Given the description of an element on the screen output the (x, y) to click on. 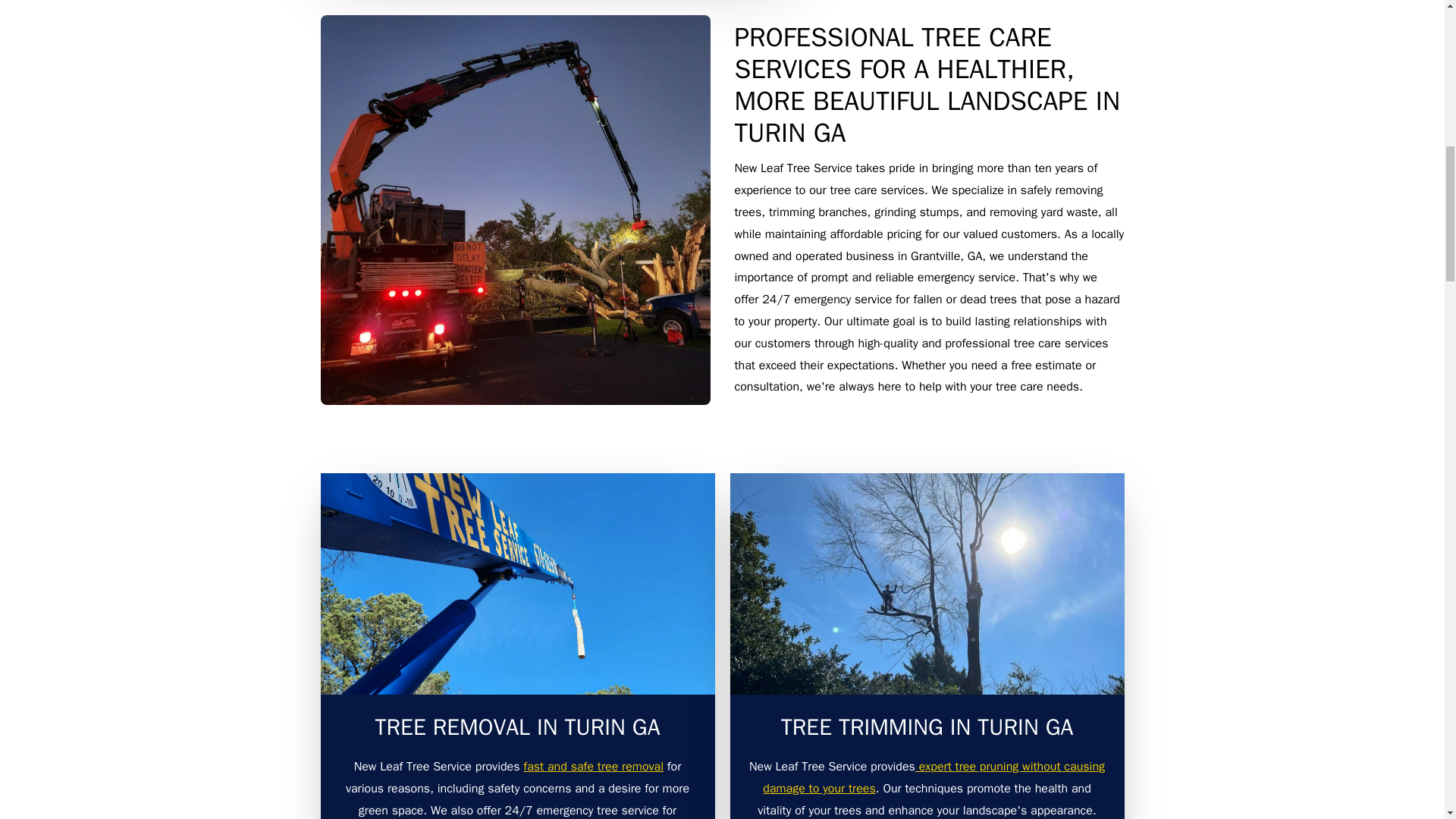
fast and safe tree removal (592, 766)
expert tree pruning without causing damage to your trees (933, 777)
